Given the description of an element on the screen output the (x, y) to click on. 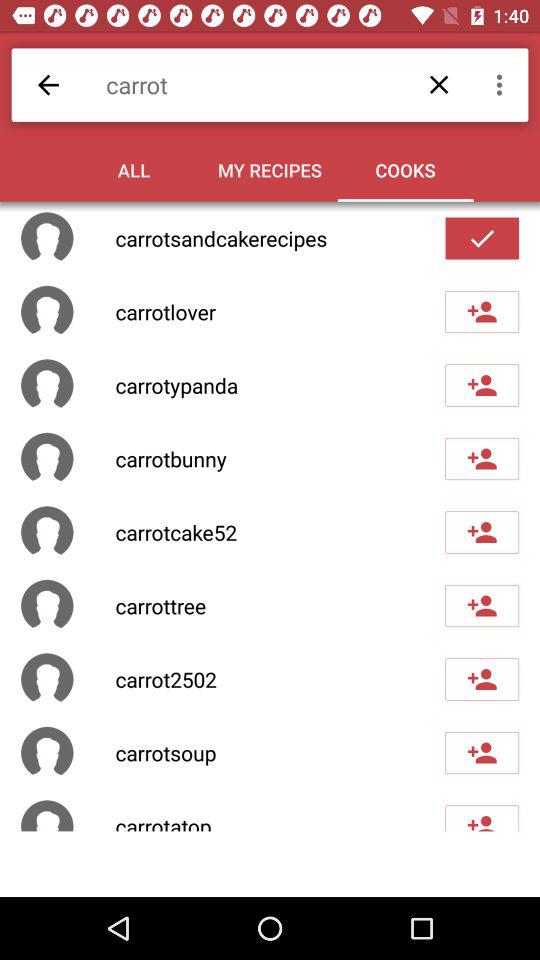
add to followed (482, 606)
